Given the description of an element on the screen output the (x, y) to click on. 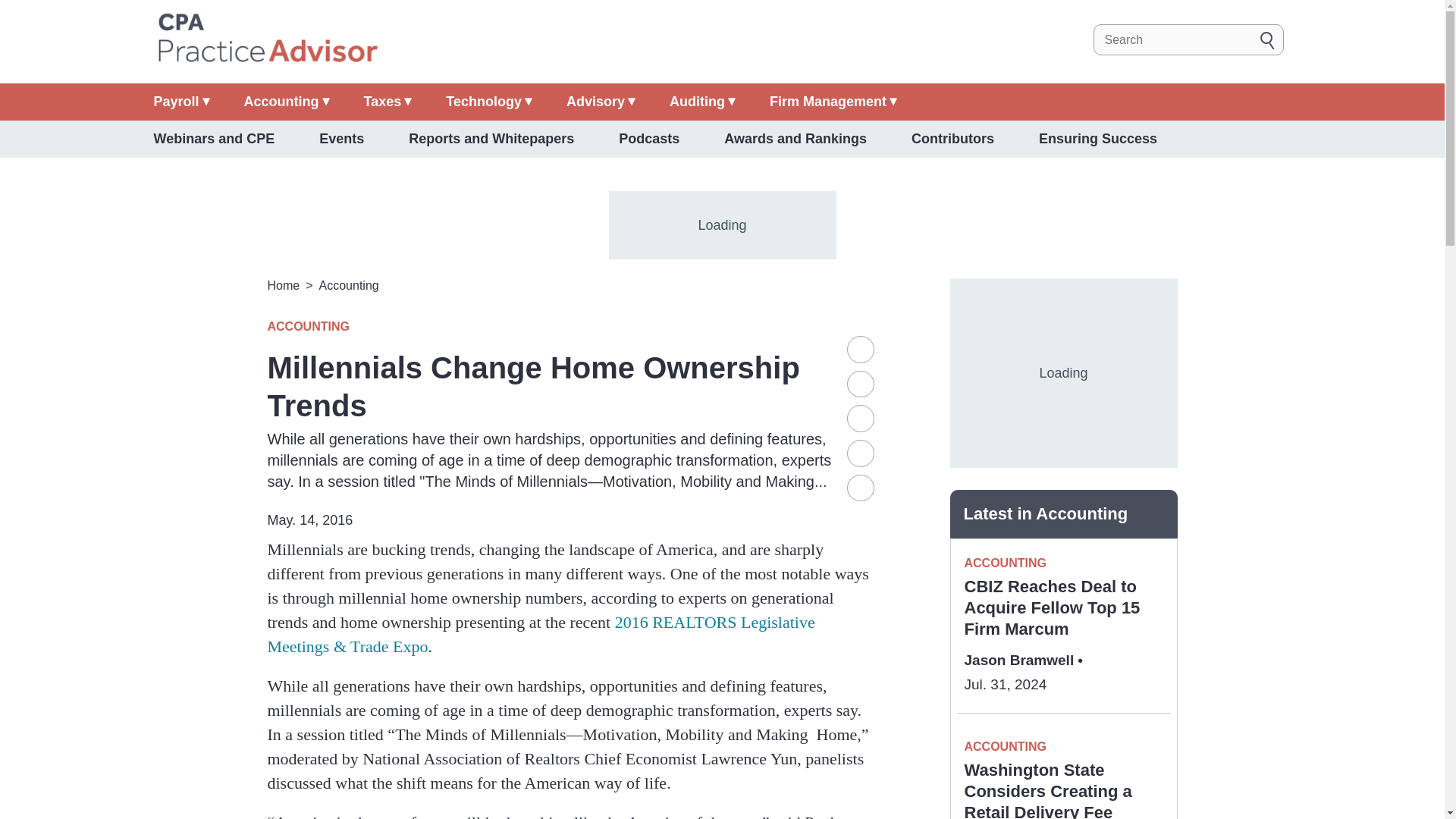
Advisory (600, 101)
Accounting (287, 101)
Technology (488, 101)
Auditing (702, 101)
Taxes (388, 101)
Home (266, 39)
Payroll (180, 101)
